Given the description of an element on the screen output the (x, y) to click on. 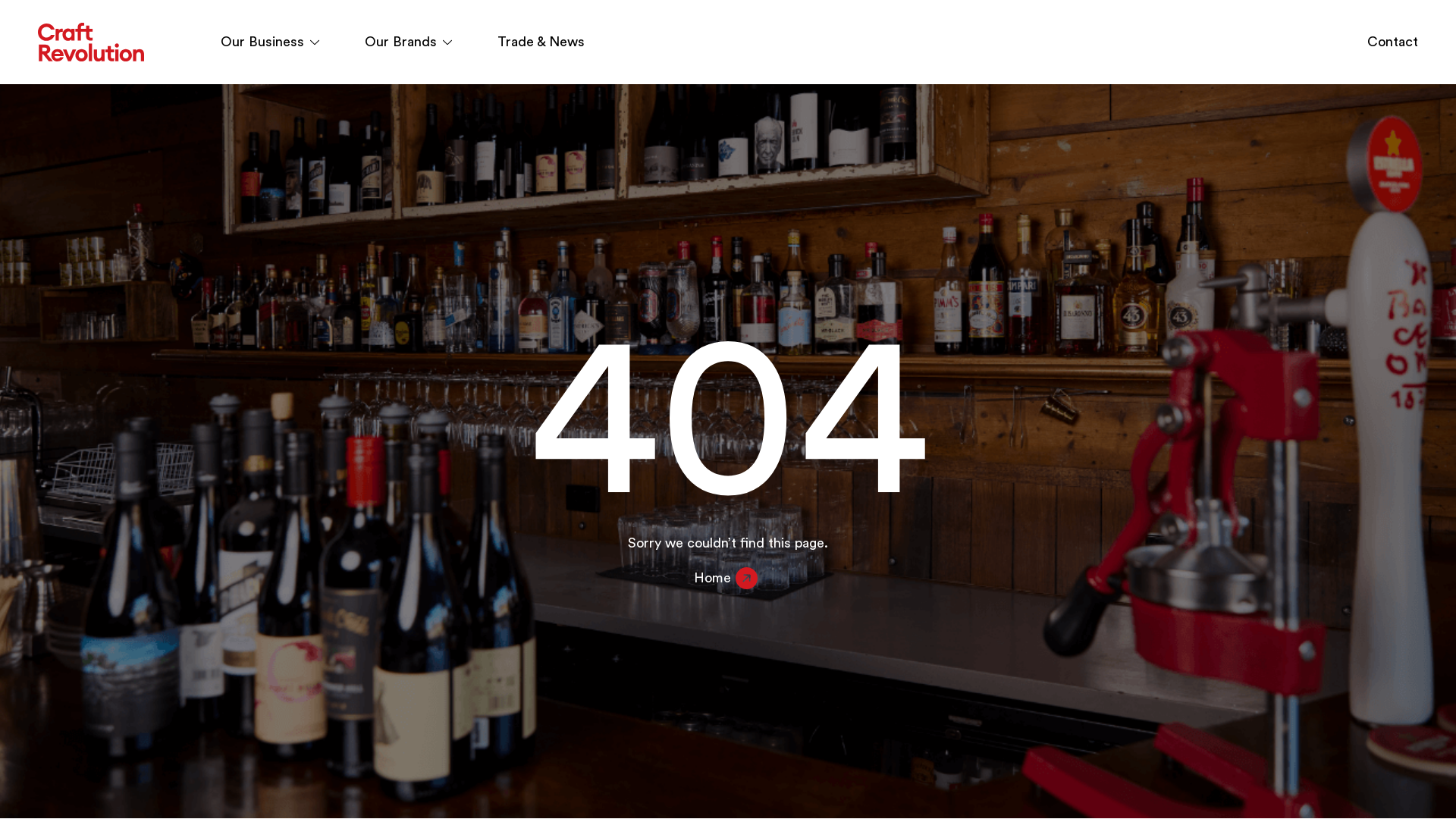
Home Element type: text (727, 578)
Our Business Element type: text (269, 42)
Trade & News Element type: text (540, 42)
Contact Element type: text (1392, 42)
Our Brands Element type: text (407, 42)
